Given the description of an element on the screen output the (x, y) to click on. 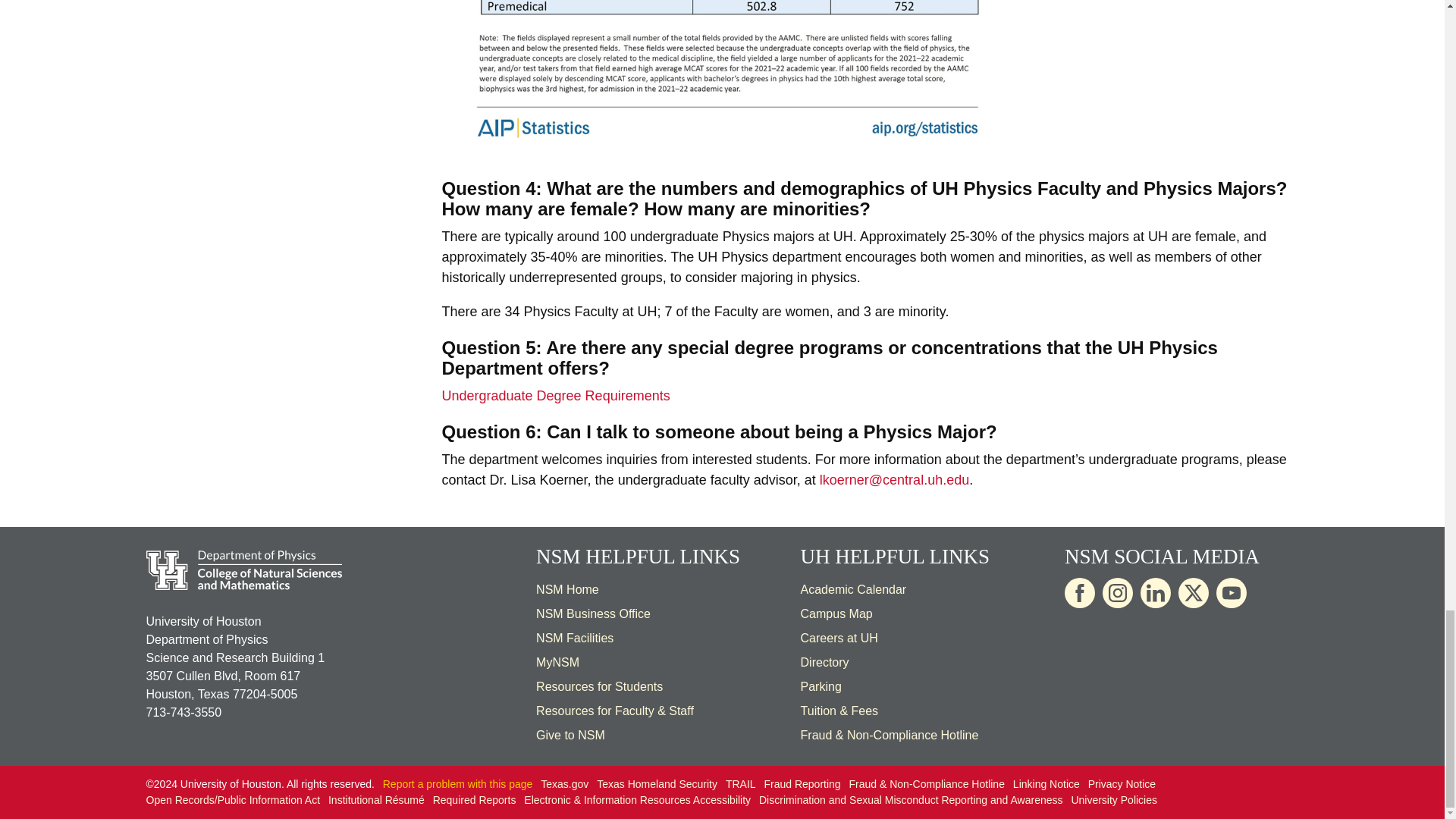
University of Houston (934, 479)
University of Houston (842, 236)
University of Houston (814, 556)
University of Houston (707, 256)
University of Houston (1131, 347)
University of Houston (647, 311)
University of Houston (868, 637)
University of Houston (1157, 236)
University of Houston (944, 188)
